Given the description of an element on the screen output the (x, y) to click on. 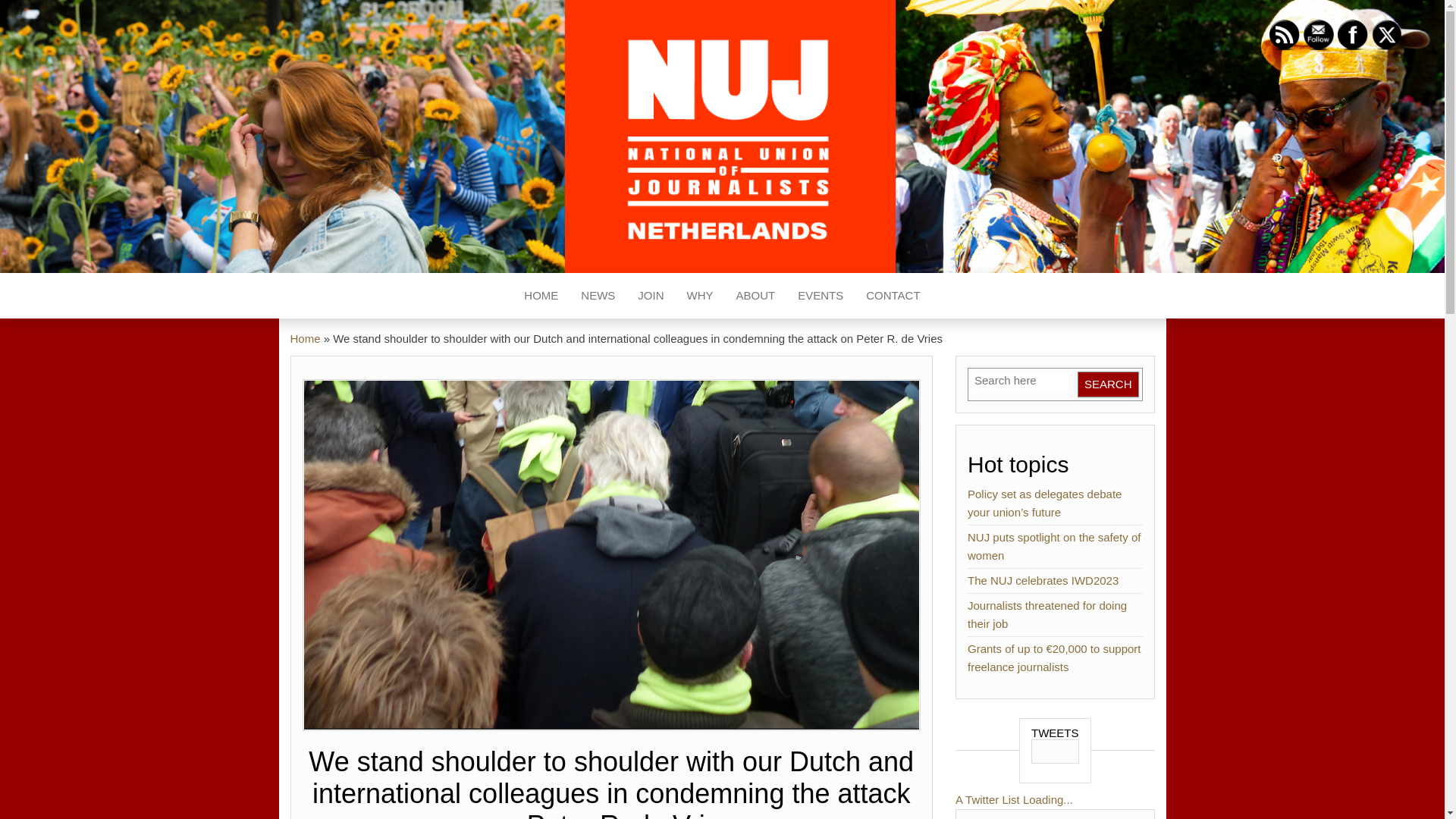
JOIN (650, 295)
EVENTS (820, 295)
Home (304, 338)
The NUJ celebrates IWD2023 (1043, 580)
NEWS (597, 295)
ABOUT (756, 295)
Journalists threatened for doing their job (1047, 613)
NUJ puts spotlight on the safety of women (1054, 545)
HOME (540, 295)
HOME (540, 295)
